Given the description of an element on the screen output the (x, y) to click on. 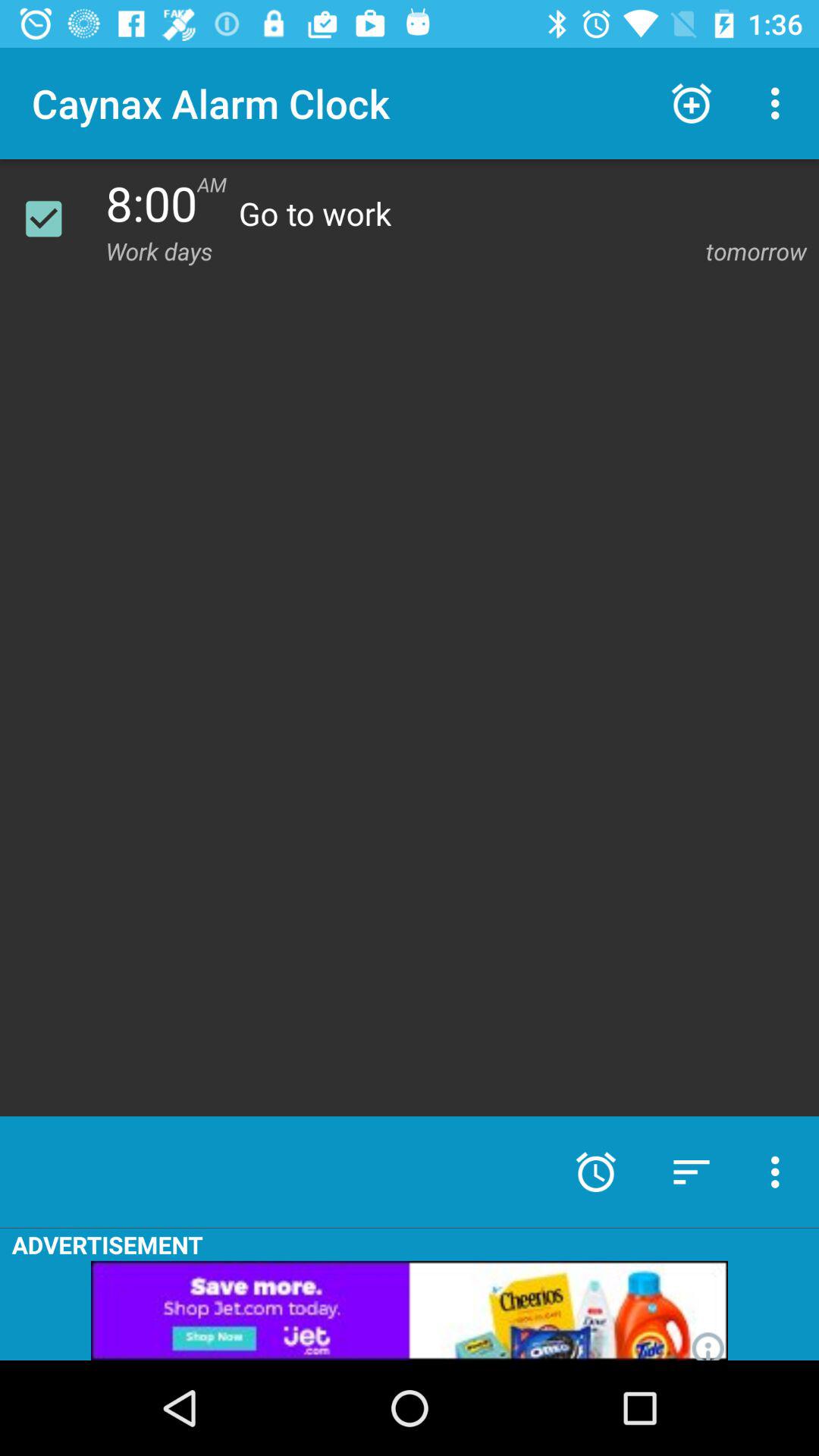
toggle advertisement (409, 1310)
